Given the description of an element on the screen output the (x, y) to click on. 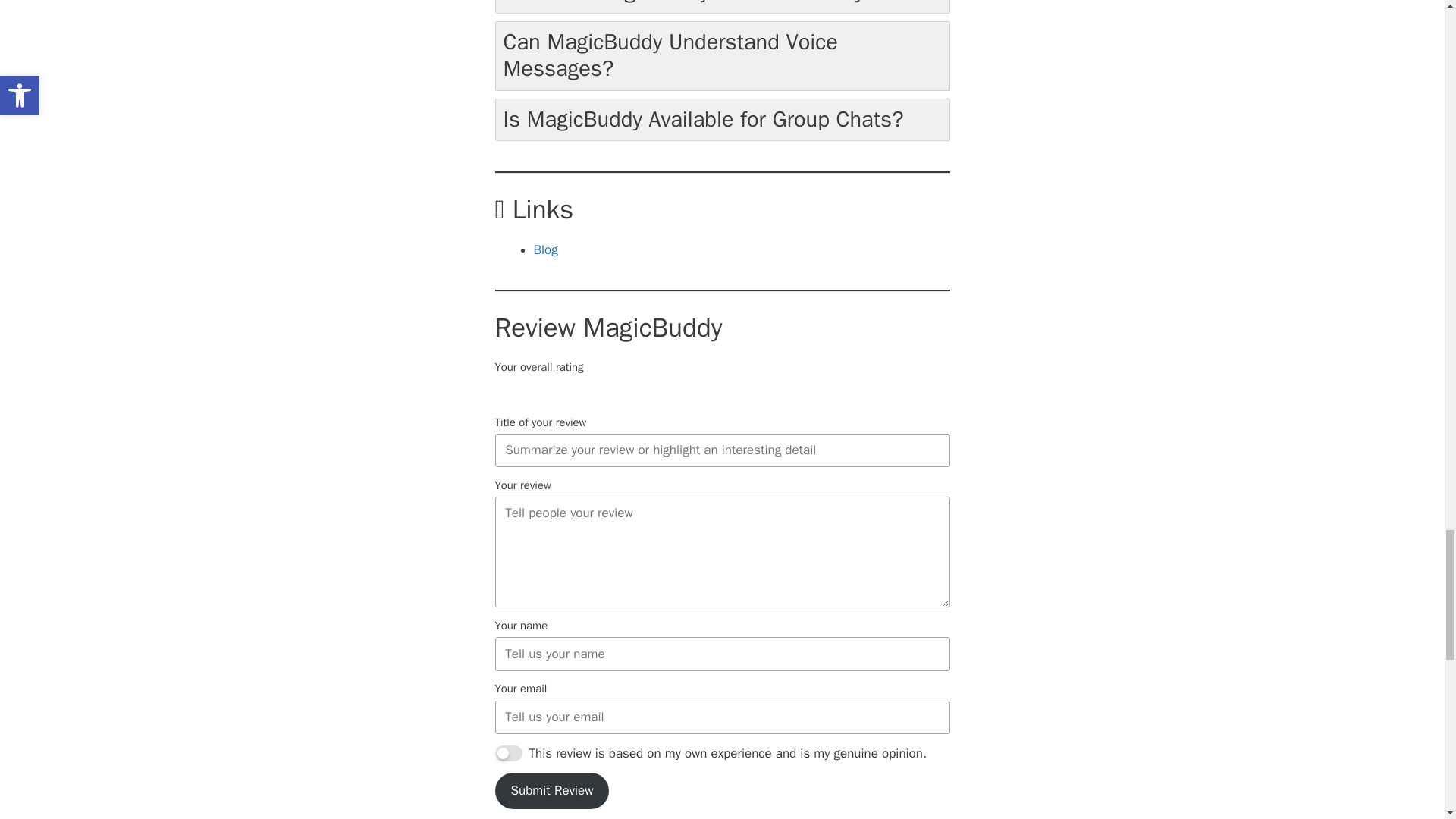
1 (508, 753)
Submit Review (551, 791)
Blog (545, 249)
